Given the description of an element on the screen output the (x, y) to click on. 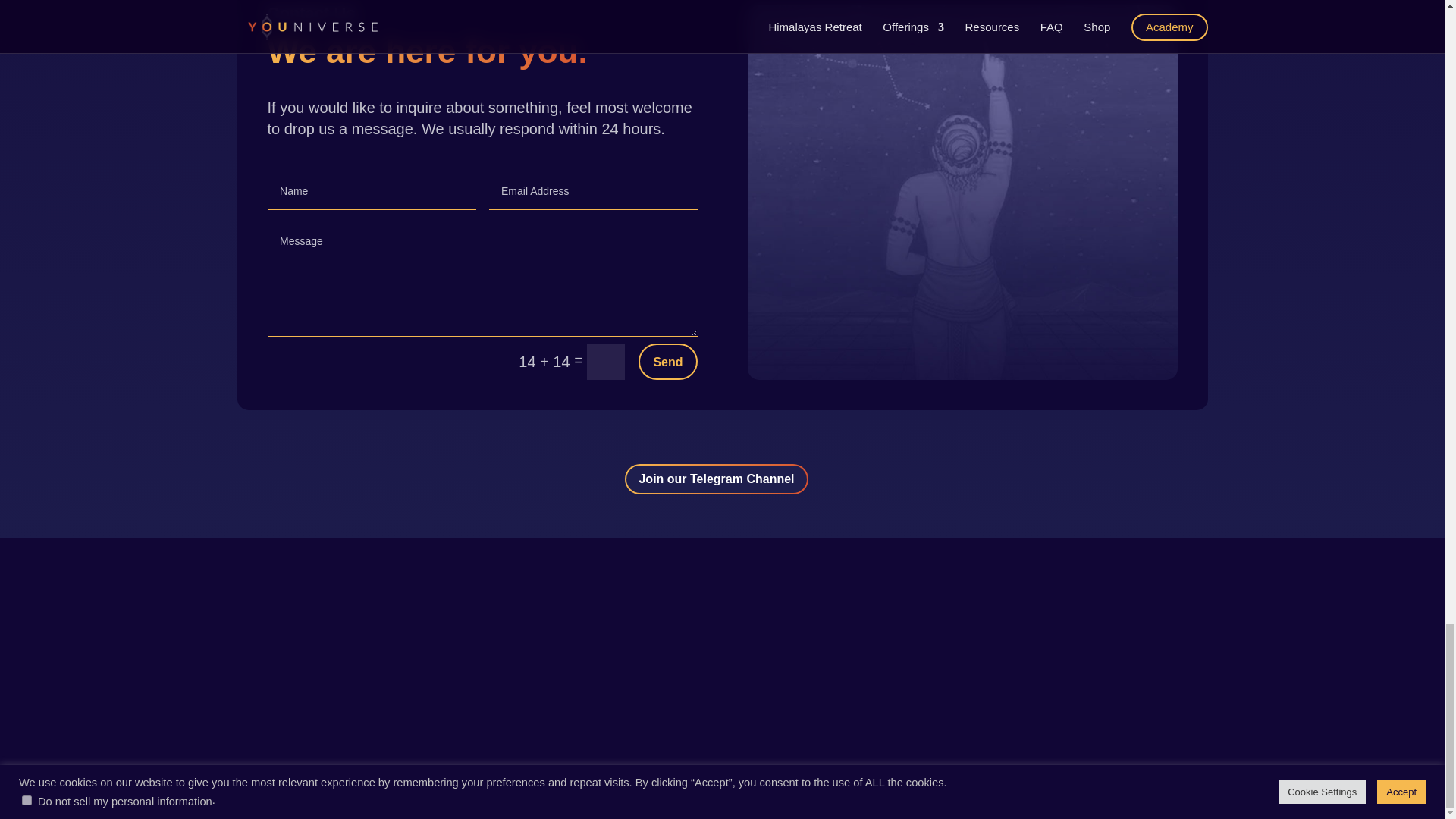
Send (668, 361)
Join our Telegram Channel (716, 479)
